Given the description of an element on the screen output the (x, y) to click on. 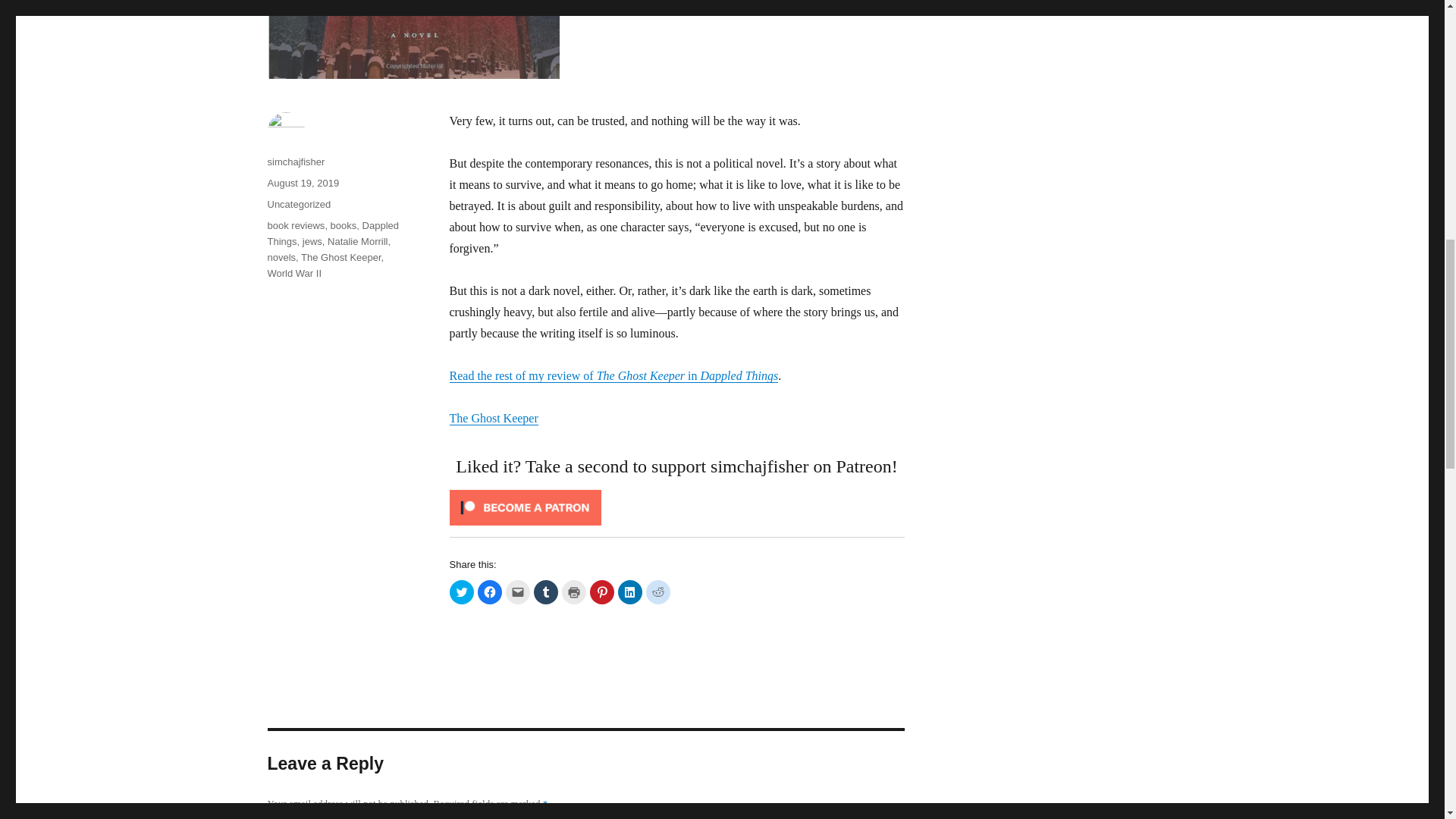
August 19, 2019 (302, 183)
Click to share on Reddit (657, 591)
Click to print (572, 591)
World War II (293, 273)
books (343, 225)
Click to share on Tumblr (545, 591)
book reviews (295, 225)
Uncategorized (298, 204)
Natalie Morrill (357, 241)
